Given the description of an element on the screen output the (x, y) to click on. 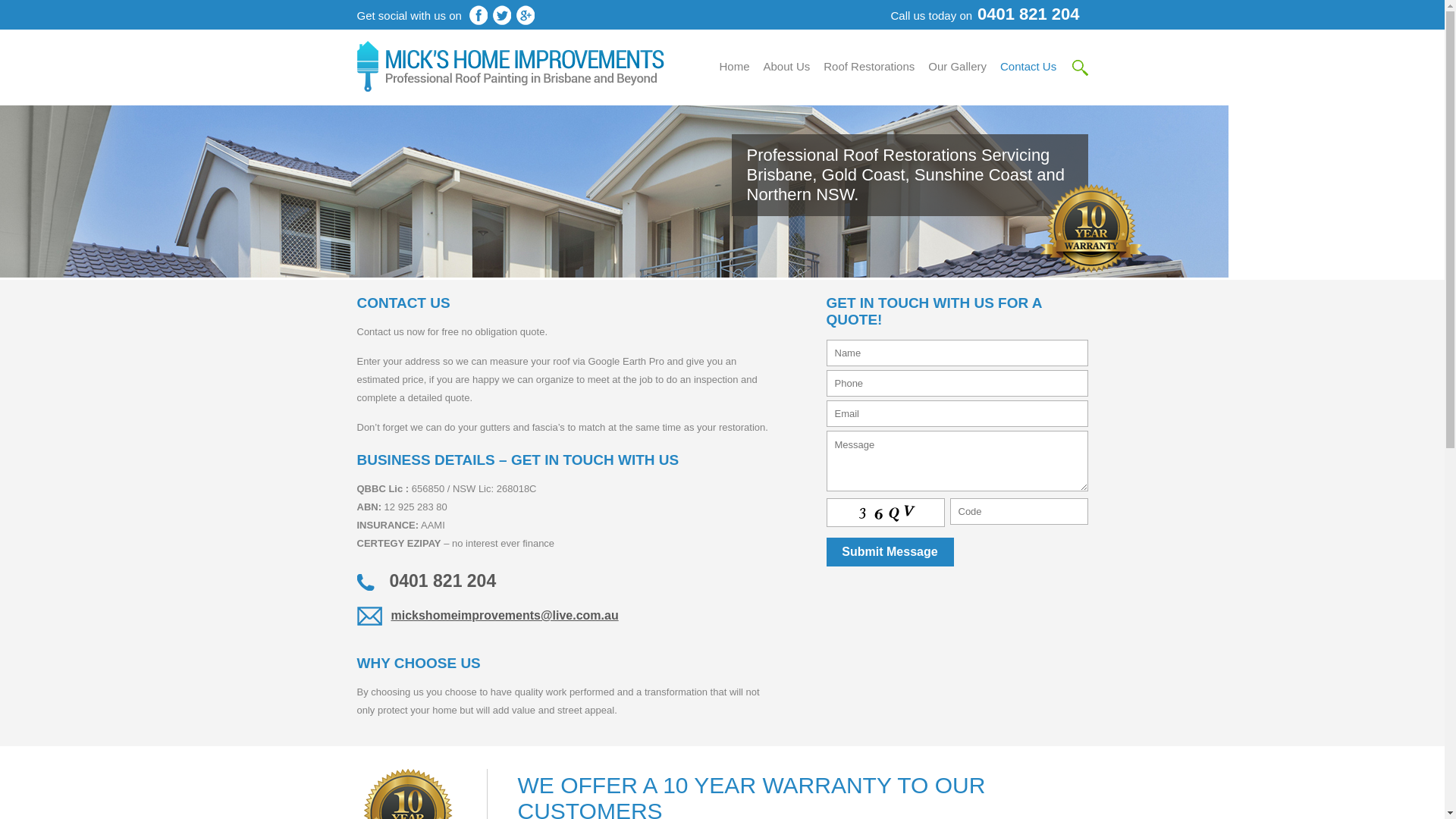
mickshomeimprovements@live.com.au Element type: text (566, 615)
0401 821 204 Element type: text (1028, 13)
Mick's Home Improvements Element type: hover (509, 87)
Contact Us Element type: text (1028, 65)
About Us Element type: text (786, 65)
Home Element type: text (733, 65)
Roof Restorations Element type: text (868, 65)
Our Gallery Element type: text (957, 65)
Submit Message Element type: text (889, 551)
Search Element type: text (1091, 65)
